Given the description of an element on the screen output the (x, y) to click on. 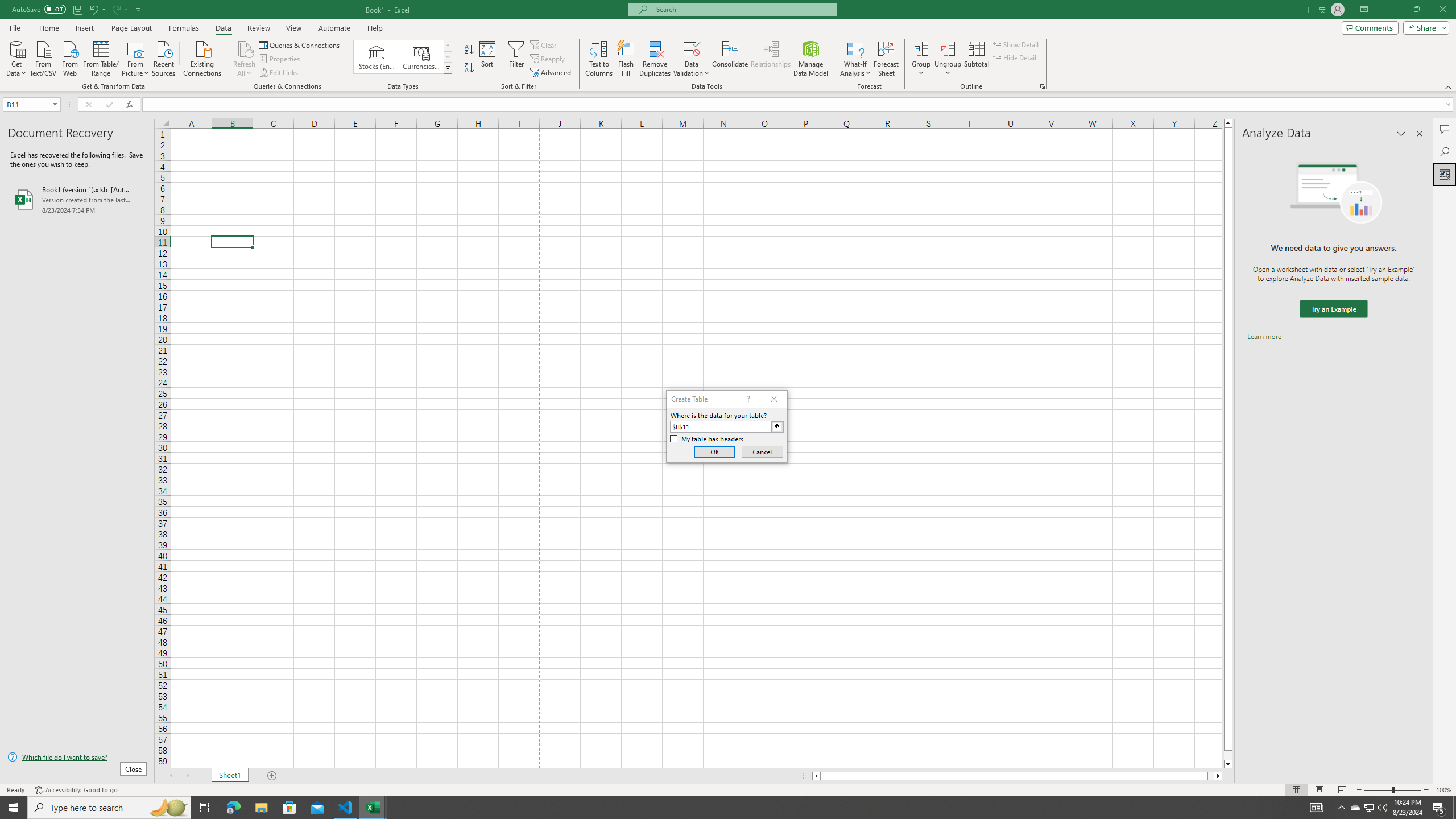
Normal (1296, 790)
Home (48, 28)
Group and Outline Settings (1042, 85)
Properties (280, 58)
Data (223, 28)
Page Layout (1318, 790)
Formulas (184, 28)
Forecast Sheet (885, 58)
Group... (921, 58)
File Tab (15, 27)
Redo (115, 9)
Manage Data Model (810, 58)
Zoom Out (1377, 790)
From Picture (135, 57)
